Given the description of an element on the screen output the (x, y) to click on. 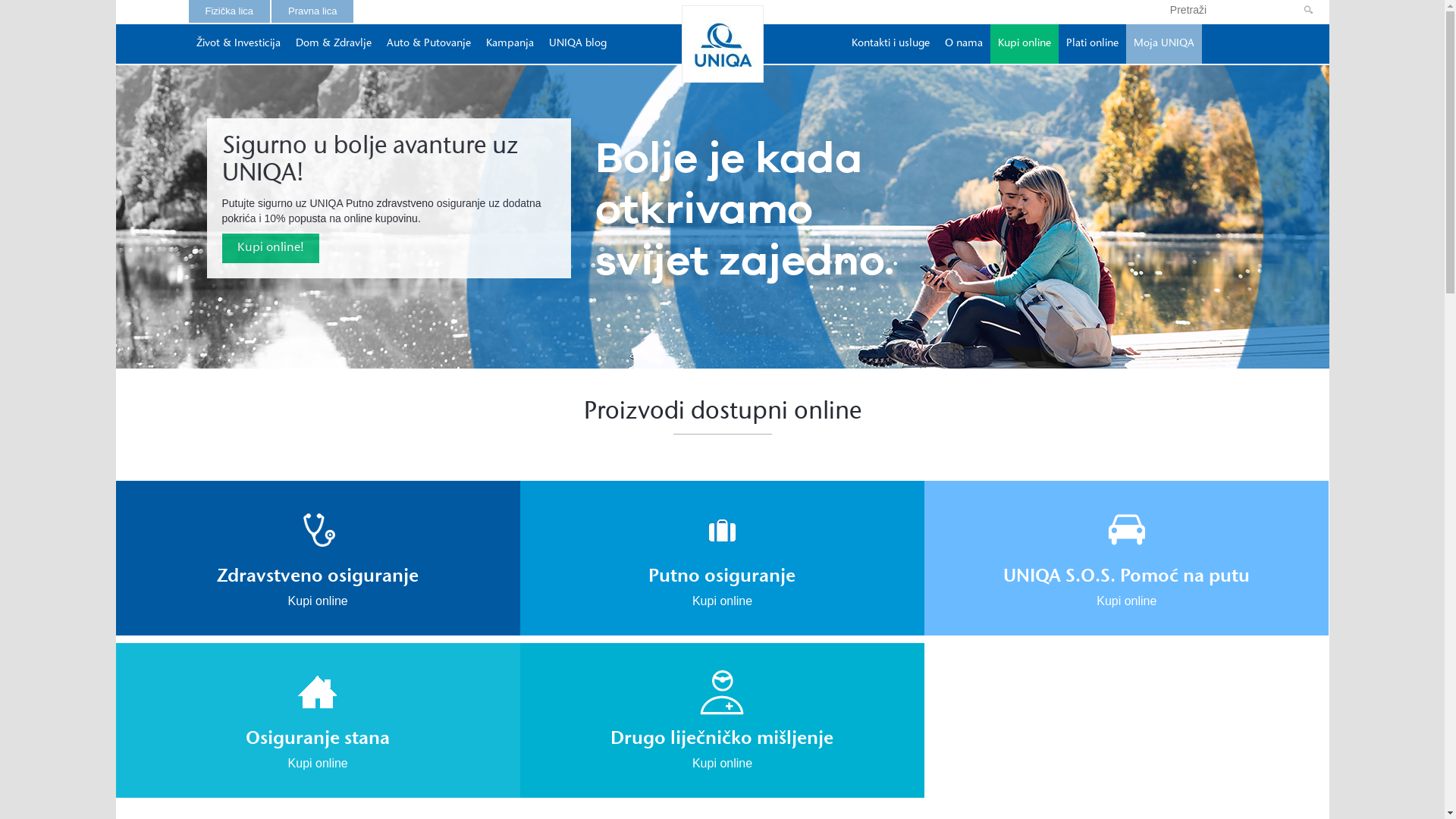
Auto & Putovanje Element type: text (428, 43)
O nama Element type: text (963, 43)
Kupi online Element type: text (1024, 43)
Moja UNIQA Element type: text (1163, 43)
Pravna lica Element type: text (312, 11)
Plati online Element type: text (1092, 43)
UNIQA blog Element type: text (577, 43)
Kampanja Element type: text (508, 43)
Kupi online! Element type: text (269, 248)
Dom & Zdravlje Element type: text (333, 43)
Kontakti i usluge Element type: text (889, 43)
